Given the description of an element on the screen output the (x, y) to click on. 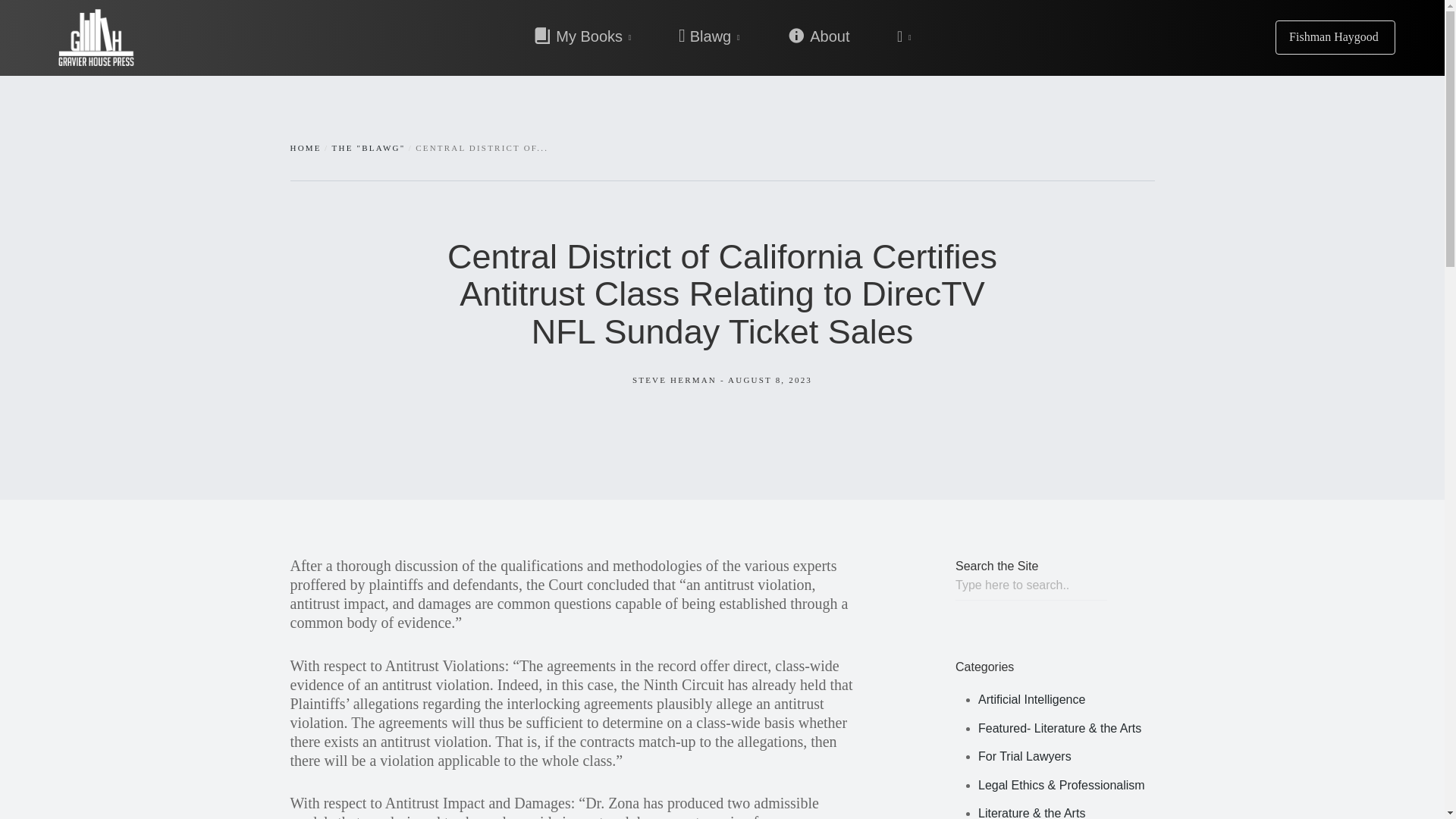
THE "BLAWG" (368, 147)
For Trial Lawyers (1024, 756)
My Books (593, 36)
About (817, 36)
Blawg (708, 36)
HOME (304, 147)
Artificial Intelligence (1031, 698)
Fishman Haygood (1334, 37)
